Given the description of an element on the screen output the (x, y) to click on. 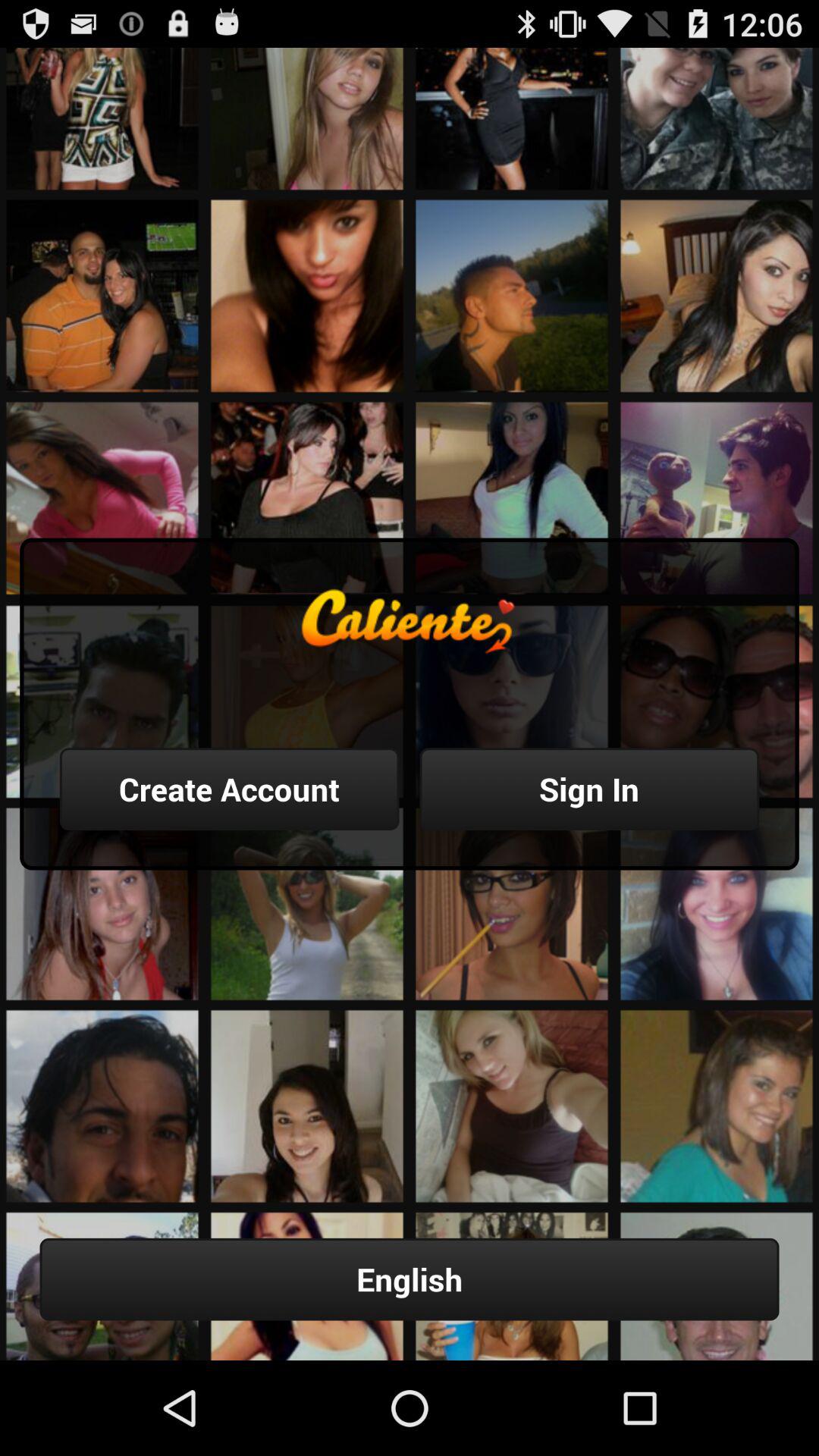
open the item above the english button (589, 788)
